Given the description of an element on the screen output the (x, y) to click on. 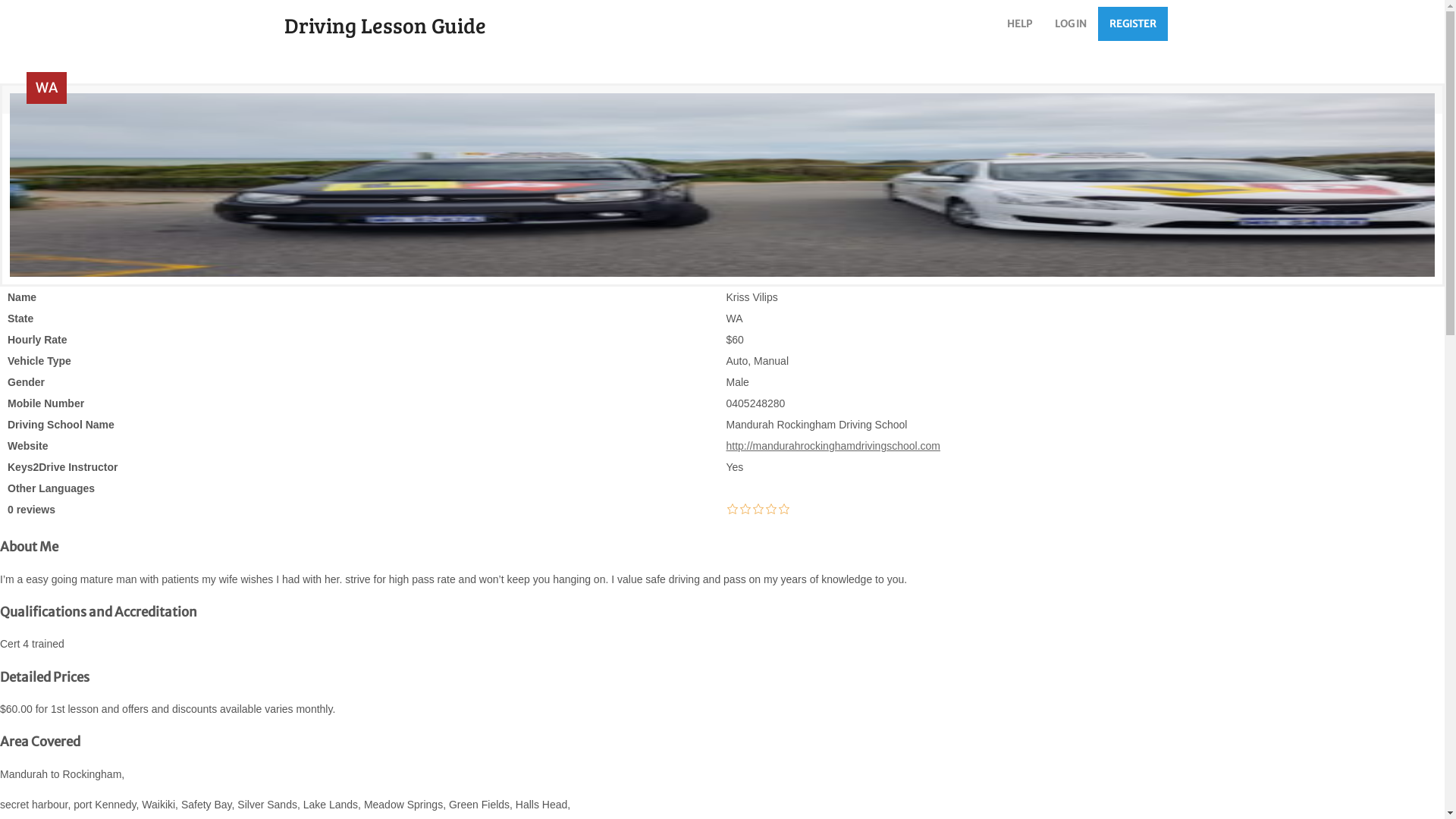
HELP Element type: text (1019, 23)
REGISTER Element type: text (1132, 23)
LOG IN Element type: text (1070, 23)
http://mandurahrockinghamdrivingschool.com Element type: text (833, 445)
Driving Lesson Guide Element type: text (456, 27)
